Given the description of an element on the screen output the (x, y) to click on. 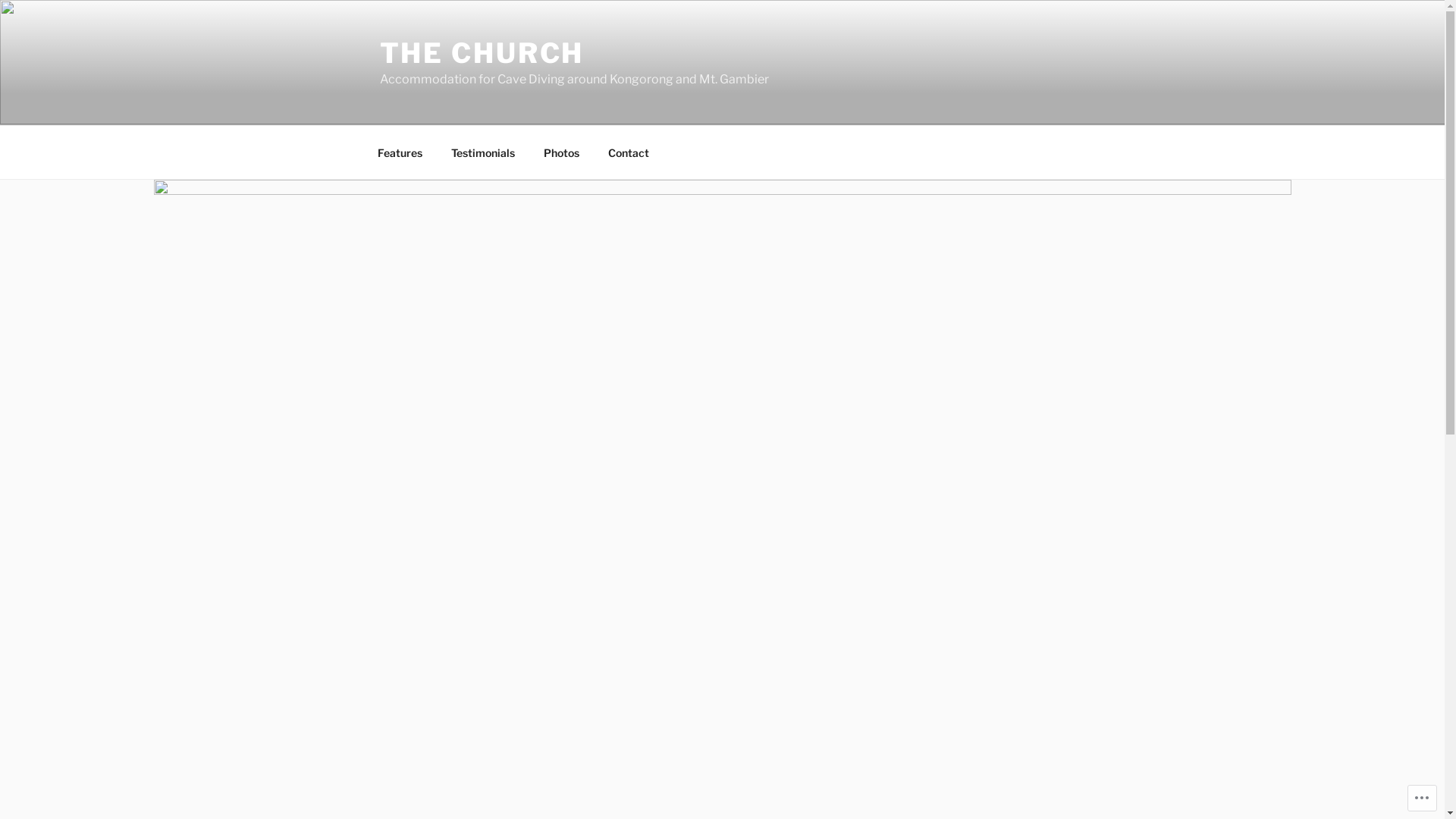
Testimonials Element type: text (483, 151)
THE CHURCH Element type: text (481, 52)
Features Element type: text (399, 151)
Photos Element type: text (561, 151)
Contact Element type: text (628, 151)
